Given the description of an element on the screen output the (x, y) to click on. 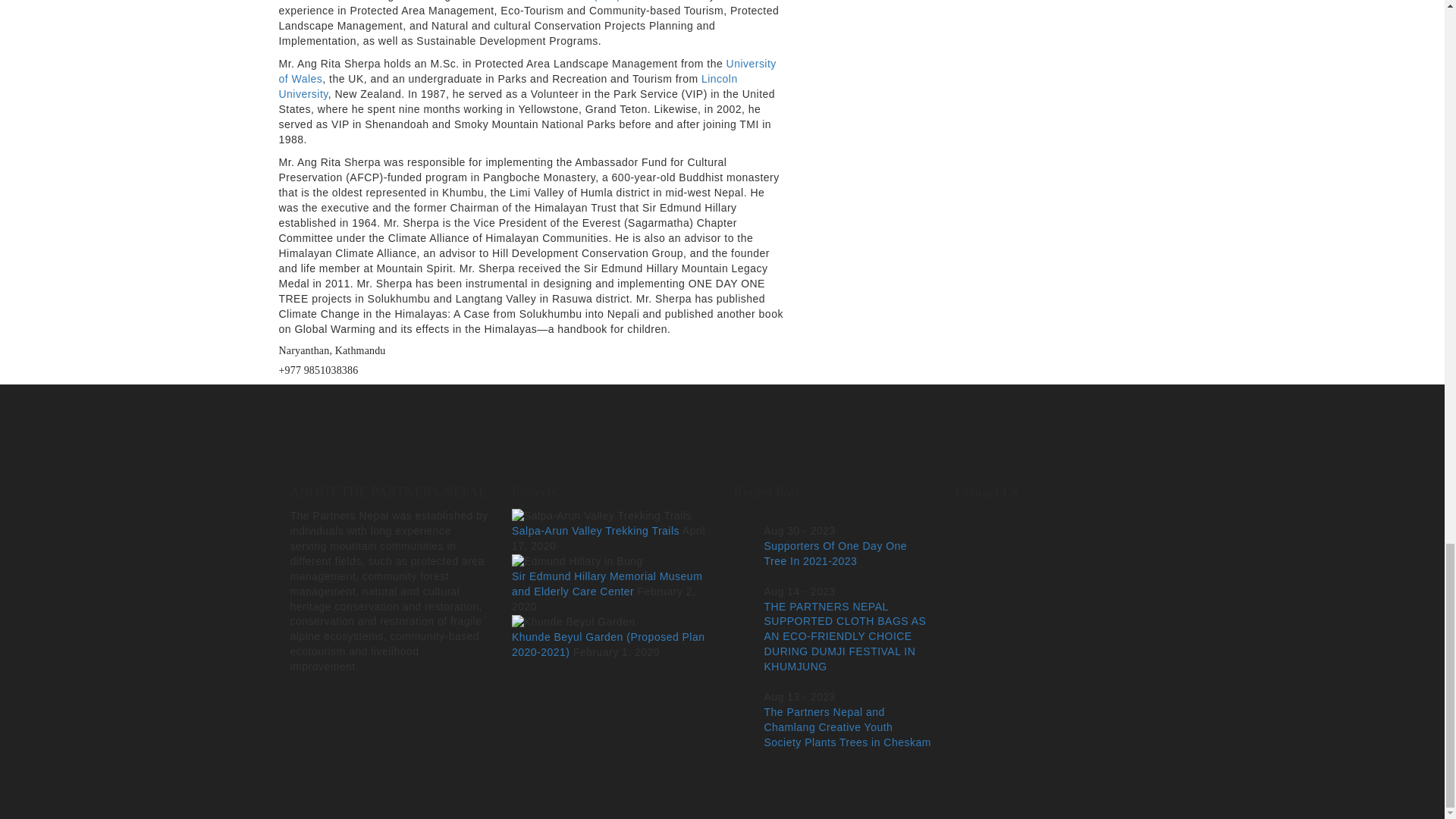
University of Wales (527, 71)
Sir Edmund Hillary Memorial Museum and Elderly Care Center 3 (577, 561)
Supporters Of One Day One Tree In 2021-2023 (835, 553)
Lincoln University (508, 85)
Salpa-Arun Valley Trekking Trails (595, 530)
Sir Edmund Hillary Memorial Museum and Elderly Care Center (606, 583)
